Given the description of an element on the screen output the (x, y) to click on. 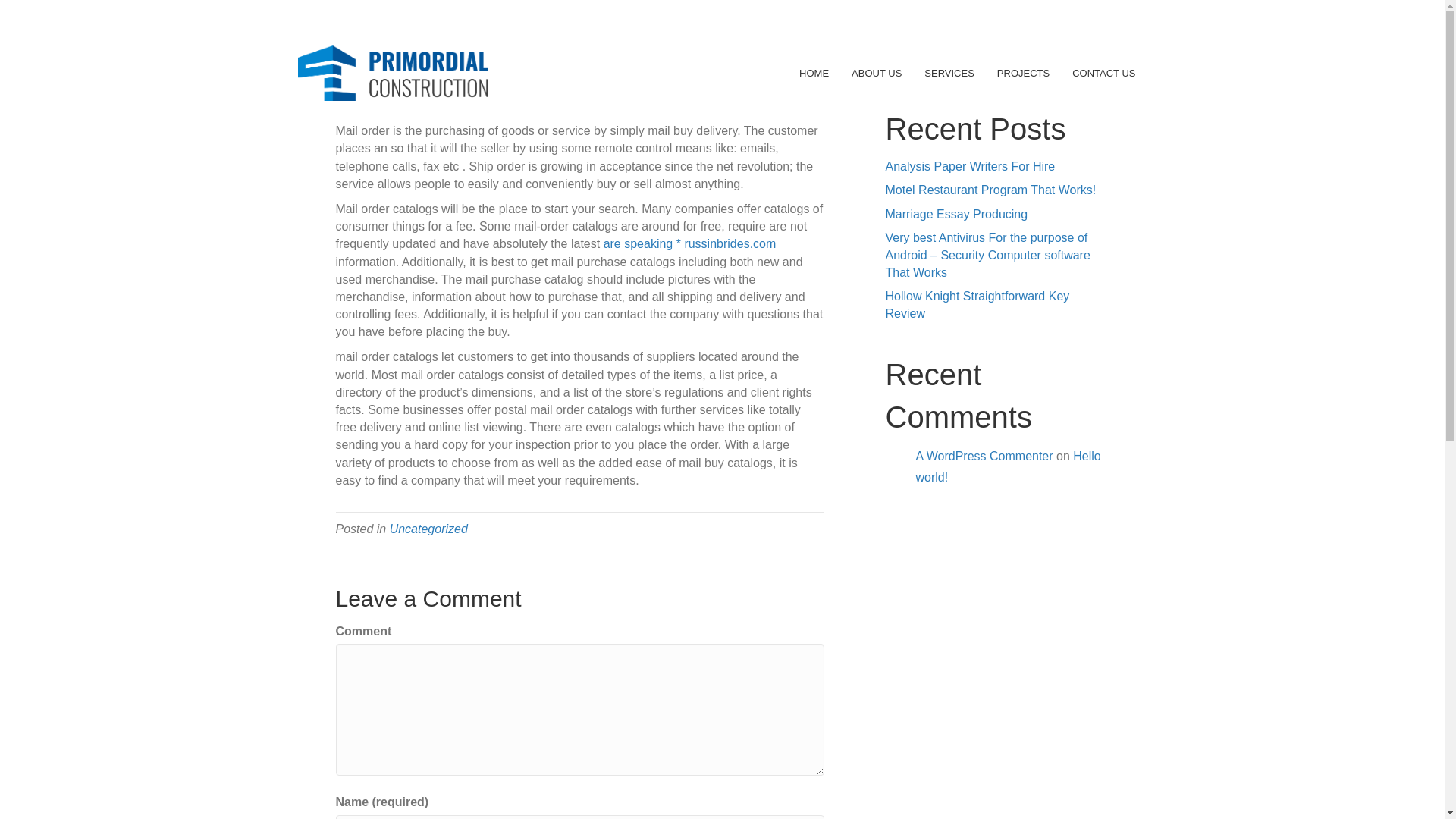
PROJECTS (1023, 72)
A WordPress Commenter (983, 455)
0 (553, 93)
ABOUT US (876, 72)
Hollow Knight Straightforward Key Review (977, 304)
Marriage Essay Producing (956, 214)
Hello world! (1007, 466)
HOME (813, 72)
Uncategorized (428, 528)
SERVICES (949, 72)
Search (1081, 63)
Motel Restaurant Program That Works! (990, 189)
CONTACT US (1103, 72)
primordial-logo (391, 72)
Analysis Paper Writers For Hire (970, 165)
